Given the description of an element on the screen output the (x, y) to click on. 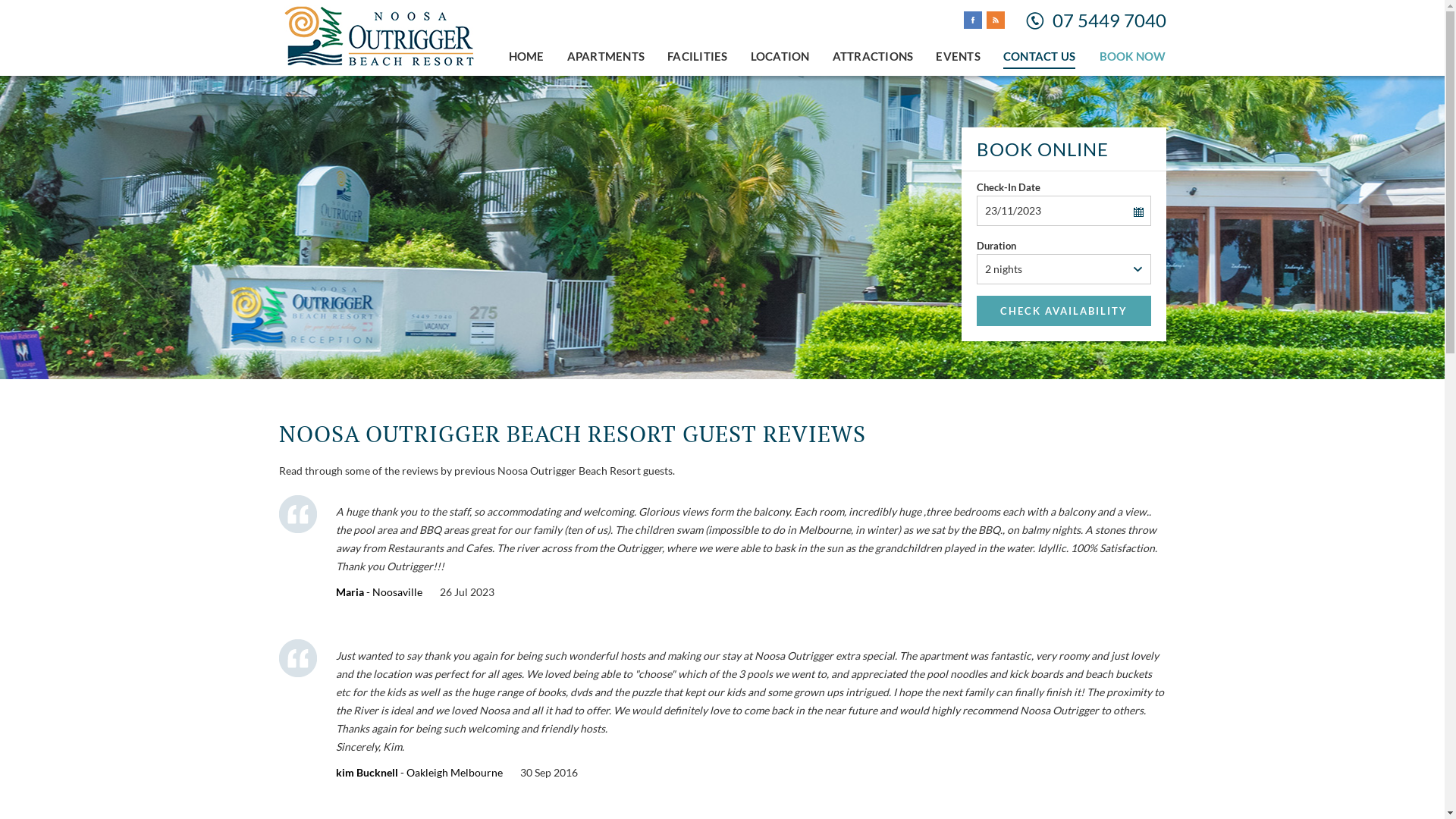
ATTRACTIONS Element type: text (872, 55)
LOCATION Element type: text (779, 55)
HOME Element type: text (525, 55)
CONTACT US Element type: text (1039, 56)
APARTMENTS Element type: text (606, 55)
07 5449 7040 Element type: text (1109, 20)
... Element type: hover (1137, 211)
FACILITIES Element type: text (697, 55)
Check Availability Element type: text (1063, 310)
EVENTS Element type: text (957, 55)
BOOK NOW Element type: text (1132, 55)
